Given the description of an element on the screen output the (x, y) to click on. 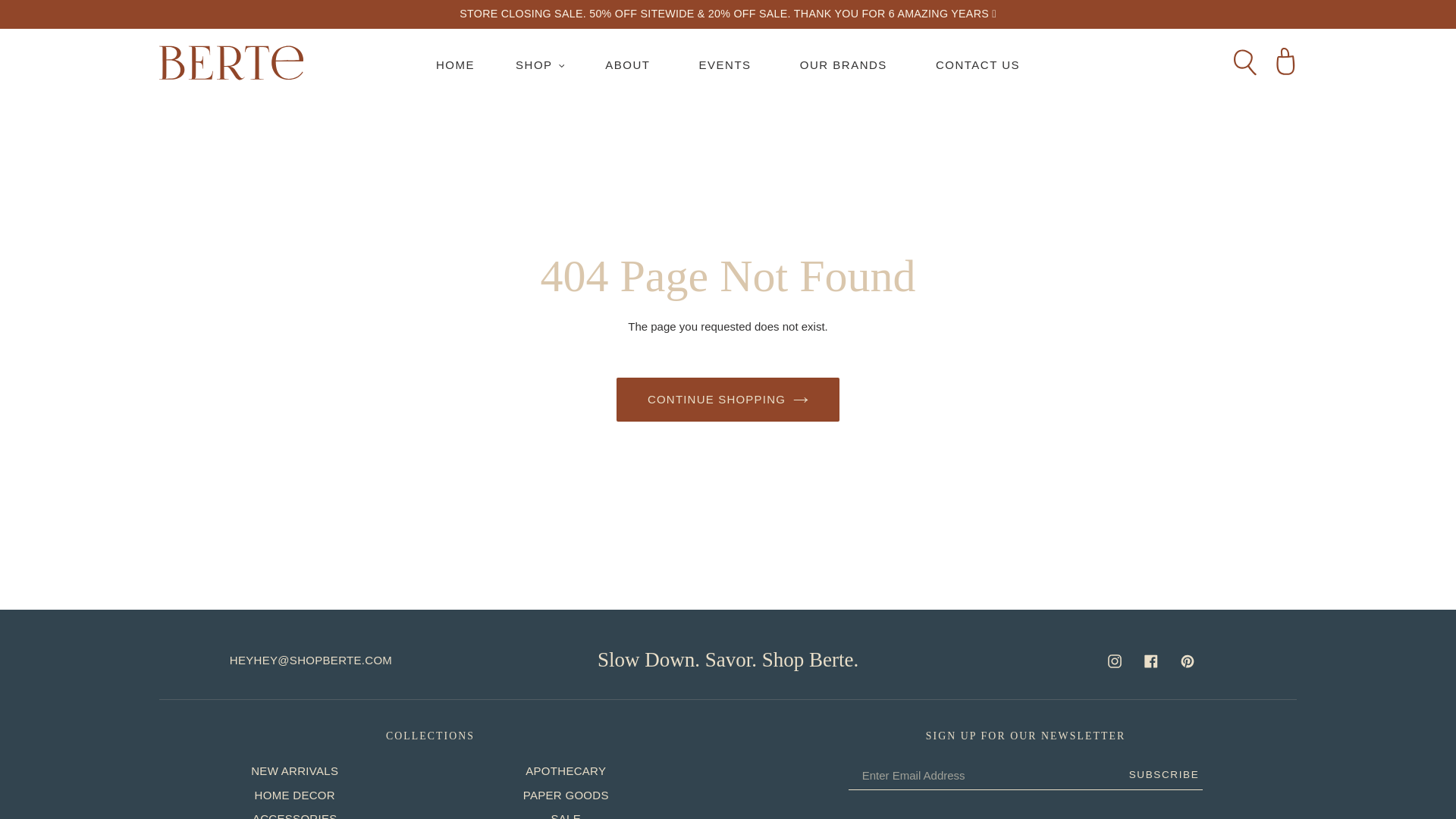
ABOUT (627, 64)
HOME (455, 64)
OUR BRANDS (843, 64)
EVENTS (725, 64)
CONTACT US (977, 64)
SHOP (539, 65)
Subscribe (1158, 775)
